Given the description of an element on the screen output the (x, y) to click on. 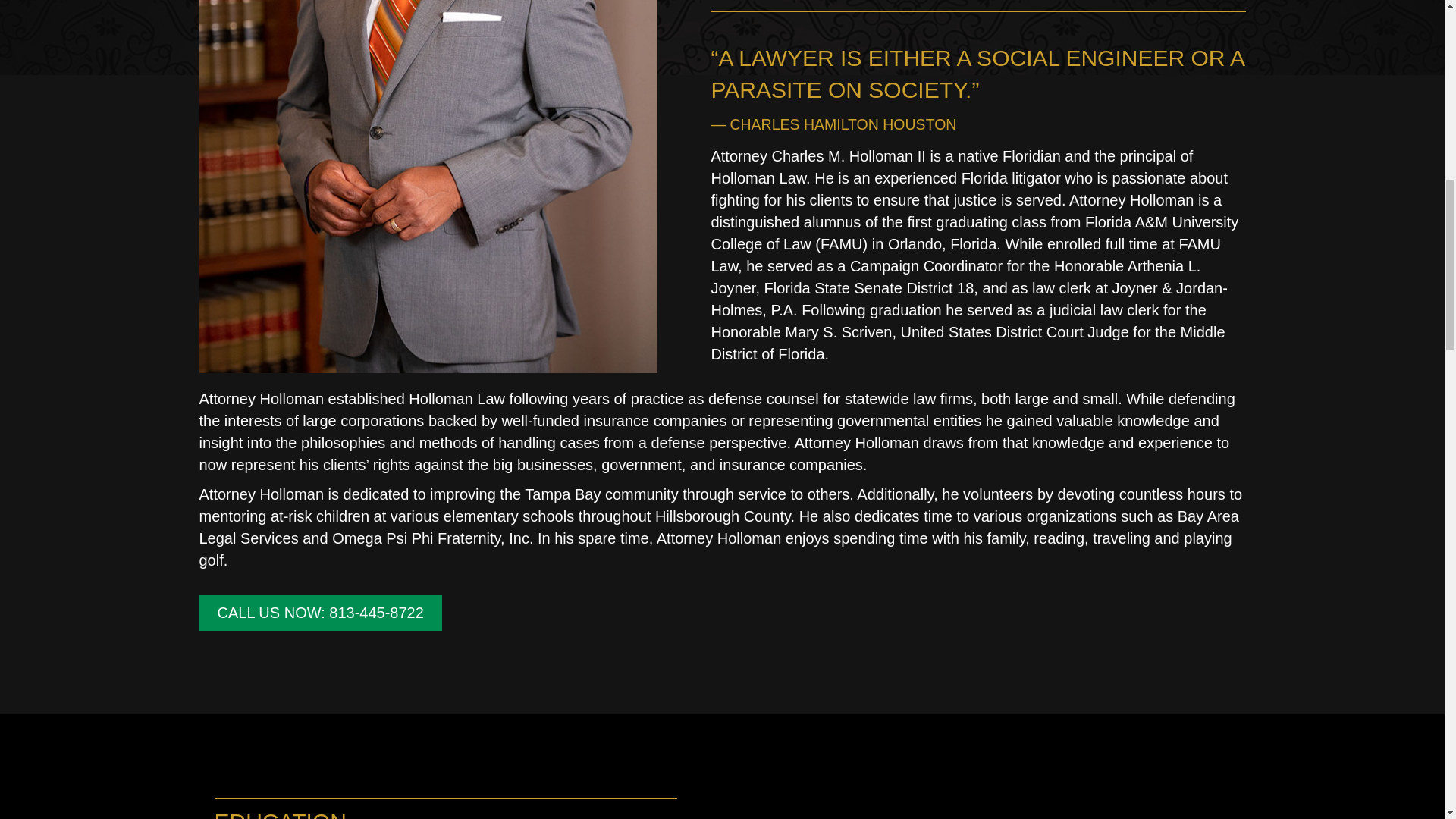
CALL US NOW: 813-445-8722 (319, 612)
